Given the description of an element on the screen output the (x, y) to click on. 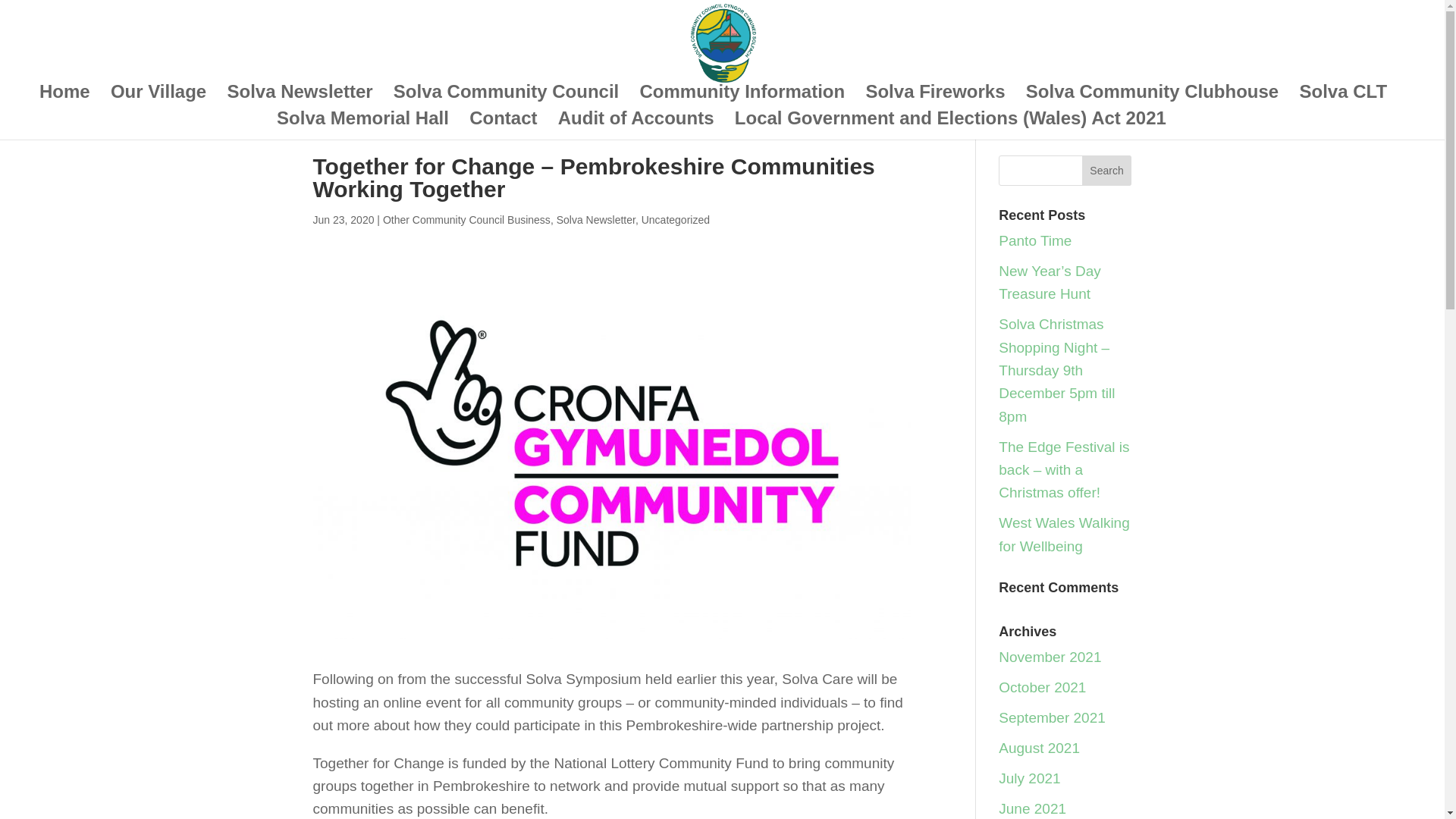
Search (1106, 170)
August 2021 (1039, 747)
Solva Fireworks (934, 99)
Solva CLT (1342, 99)
June 2021 (1031, 808)
July 2021 (1028, 778)
Uncategorized (676, 219)
Search (1106, 170)
Solva Community Clubhouse (1152, 99)
Community Information (742, 99)
Solva Newsletter (299, 99)
Panto Time (1034, 240)
Solva Newsletter (595, 219)
Home (64, 99)
Audit of Accounts (635, 126)
